Given the description of an element on the screen output the (x, y) to click on. 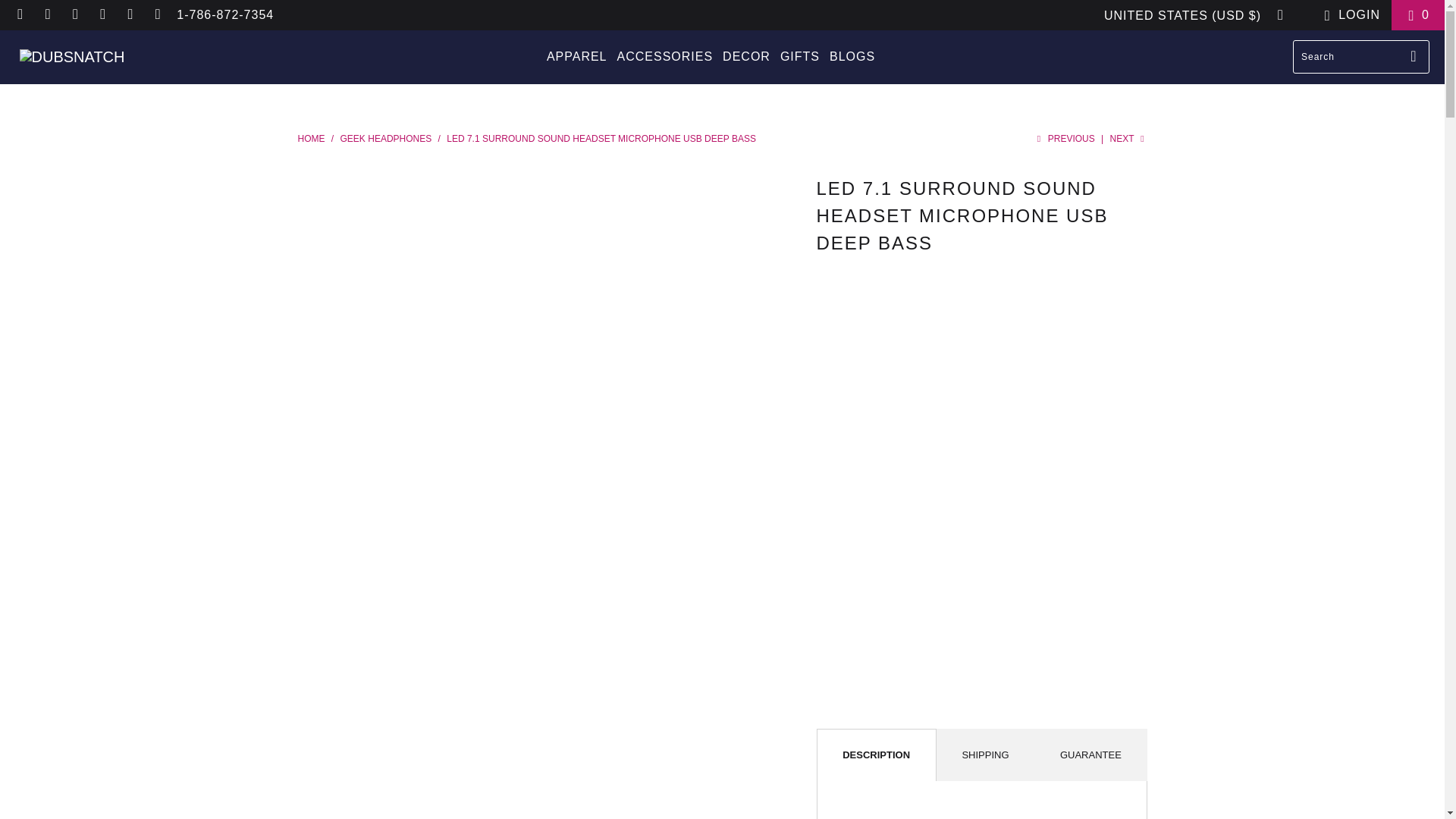
Dubsnatch on TikTok (129, 14)
Dubsnatch (310, 138)
ACCESSORIES (665, 56)
Geek Headphones (386, 138)
1-786-872-7354 (224, 14)
Dubsnatch on Instagram (47, 14)
My Account  (1348, 14)
APPAREL (577, 56)
Previous (1063, 138)
Dubsnatch on Spotify (102, 14)
LOGIN (1348, 14)
Dubsnatch on Discord (19, 14)
Dubsnatch on Pinterest (74, 14)
Dubsnatch (72, 56)
Dubsnatch on YouTube (156, 14)
